Given the description of an element on the screen output the (x, y) to click on. 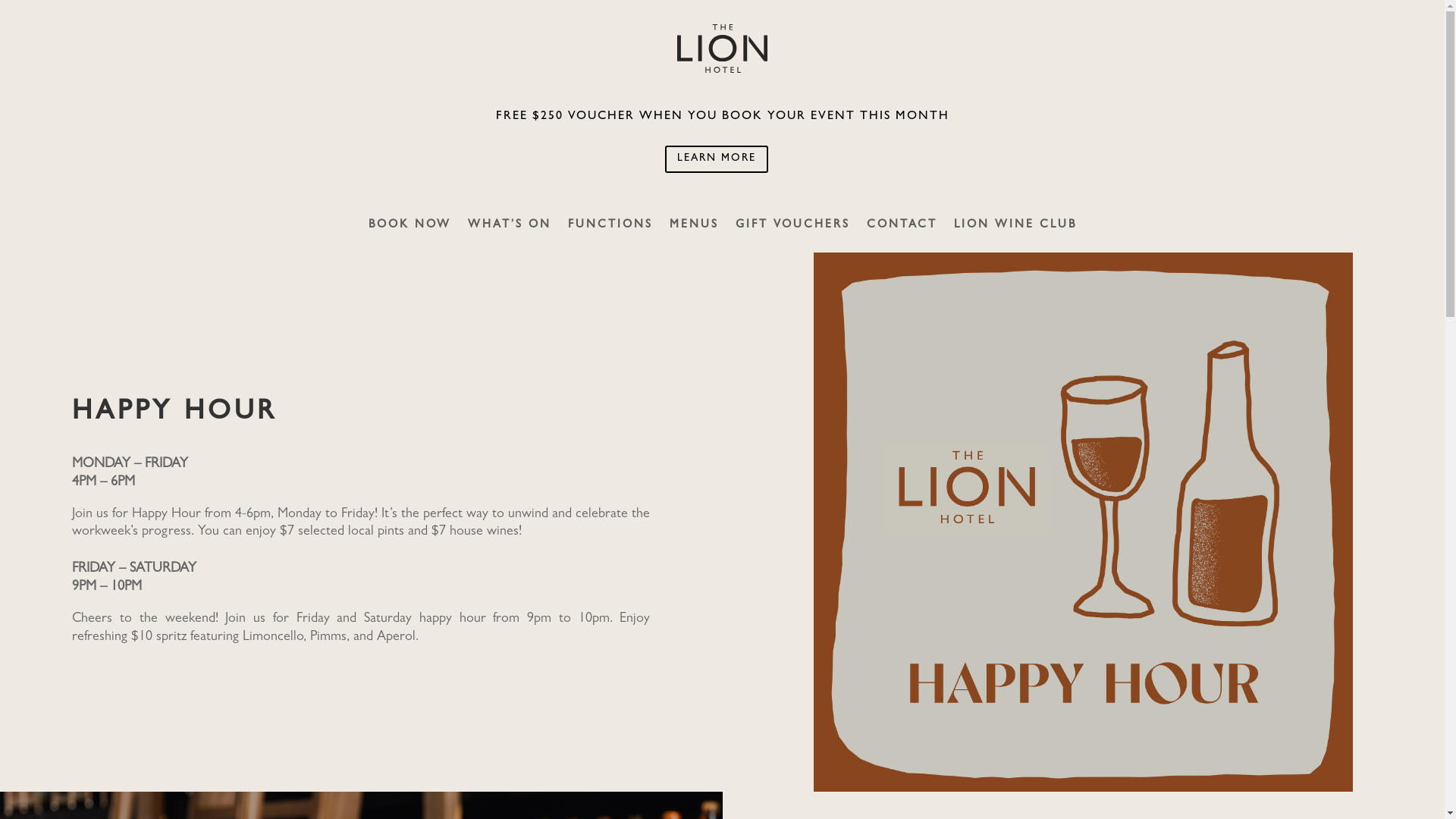
MENUS Element type: text (693, 236)
CONTACT Element type: text (901, 236)
FUNCTIONS Element type: text (609, 236)
GIFT VOUCHERS Element type: text (792, 236)
Lion_logo_Bootleg Element type: hover (722, 48)
LION WINE CLUB Element type: text (1014, 236)
BOOK NOW Element type: text (409, 236)
LEARN MORE Element type: text (716, 158)
